Given the description of an element on the screen output the (x, y) to click on. 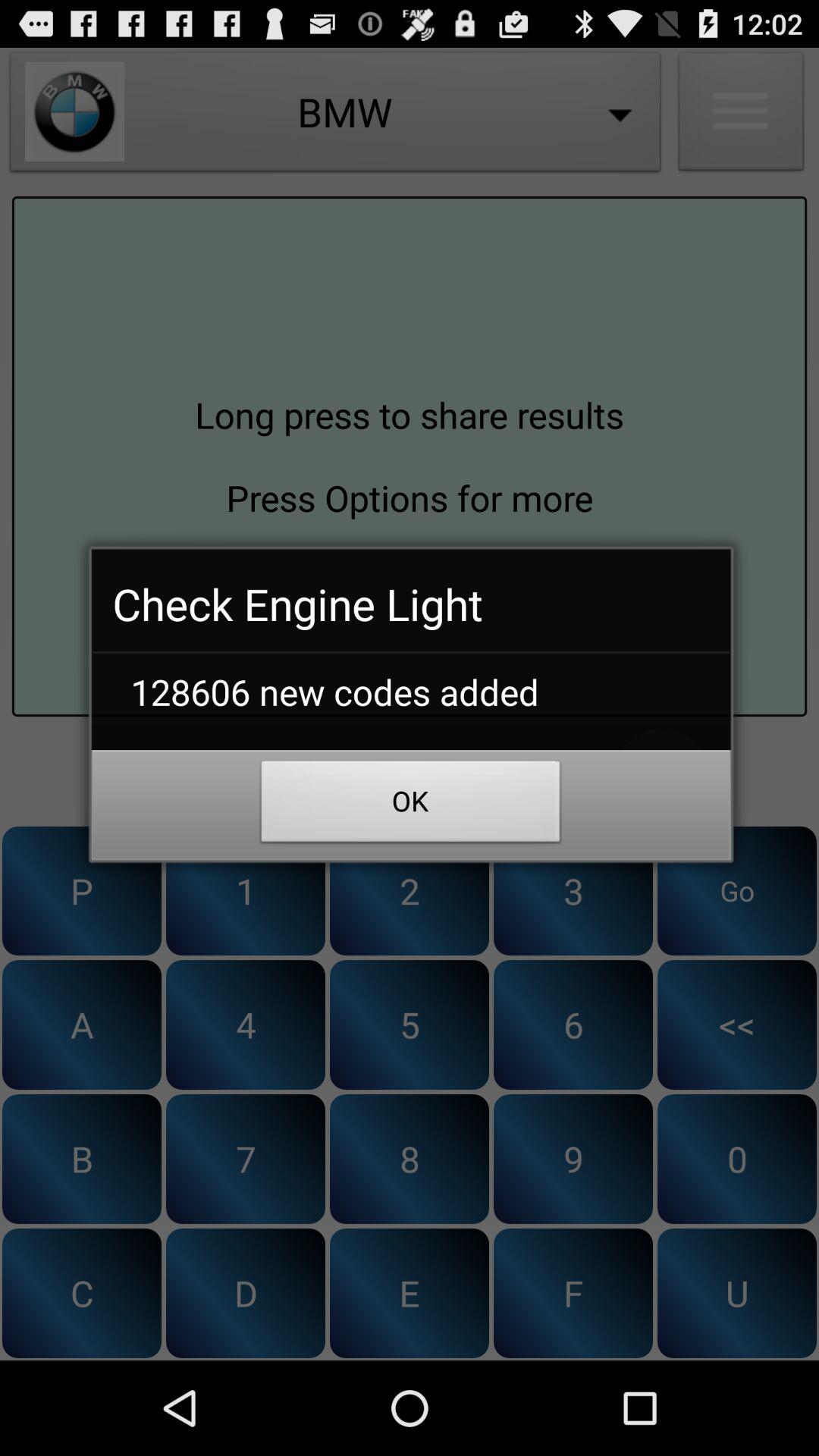
select main menu (741, 115)
